Given the description of an element on the screen output the (x, y) to click on. 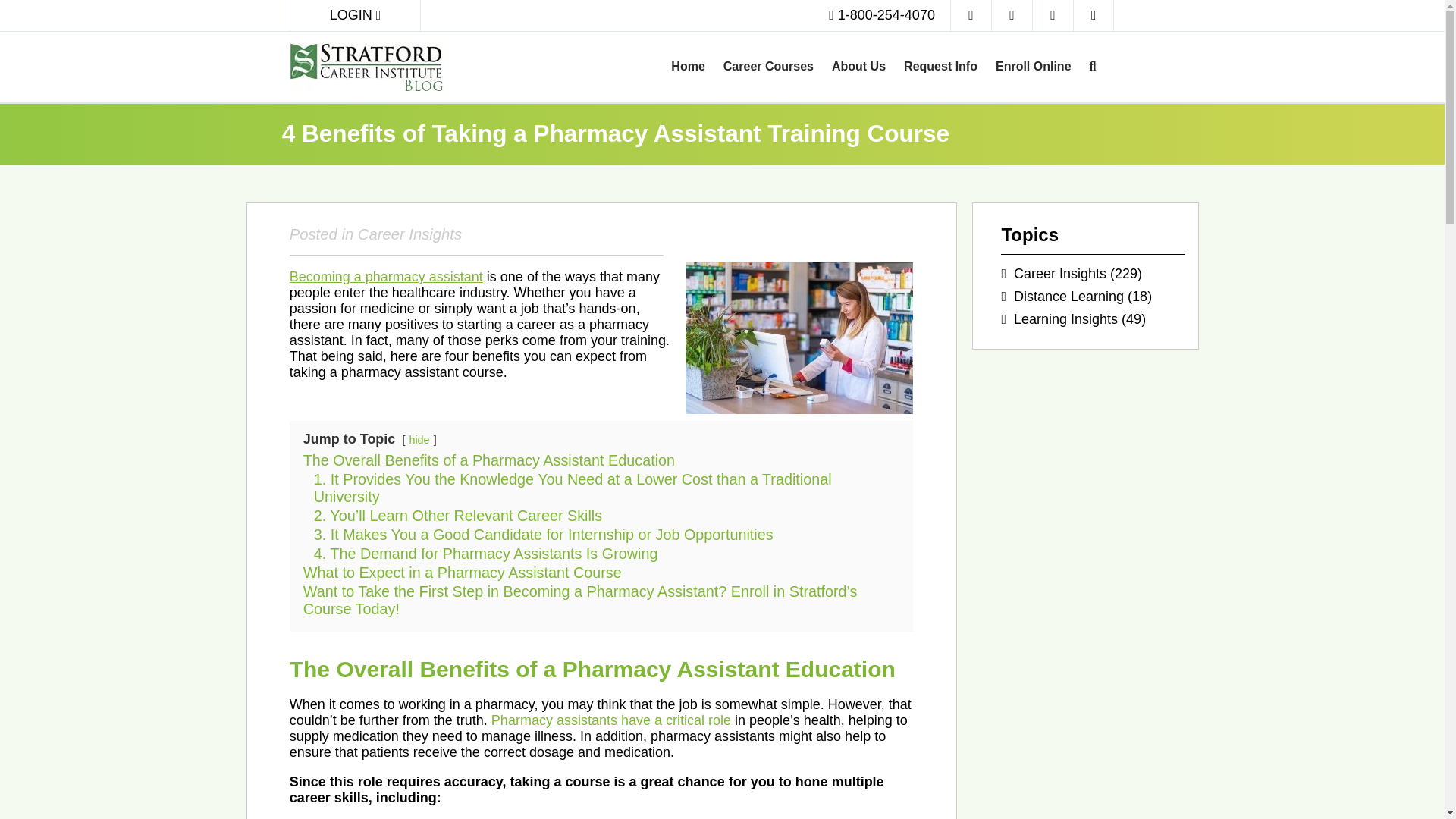
What to Expect in a Pharmacy Assistant Course (461, 572)
Stratford Career Institute Blog (392, 66)
Career Courses (768, 66)
Career Insights (1059, 273)
Login (355, 15)
About Us (858, 66)
Distance Learning (1068, 296)
1-800-254-4070 (881, 15)
Enroll Online (1033, 66)
Learning Insights (1065, 319)
Pharmacy assistants have a critical role (611, 720)
hide (419, 439)
Request Info (941, 66)
